Given the description of an element on the screen output the (x, y) to click on. 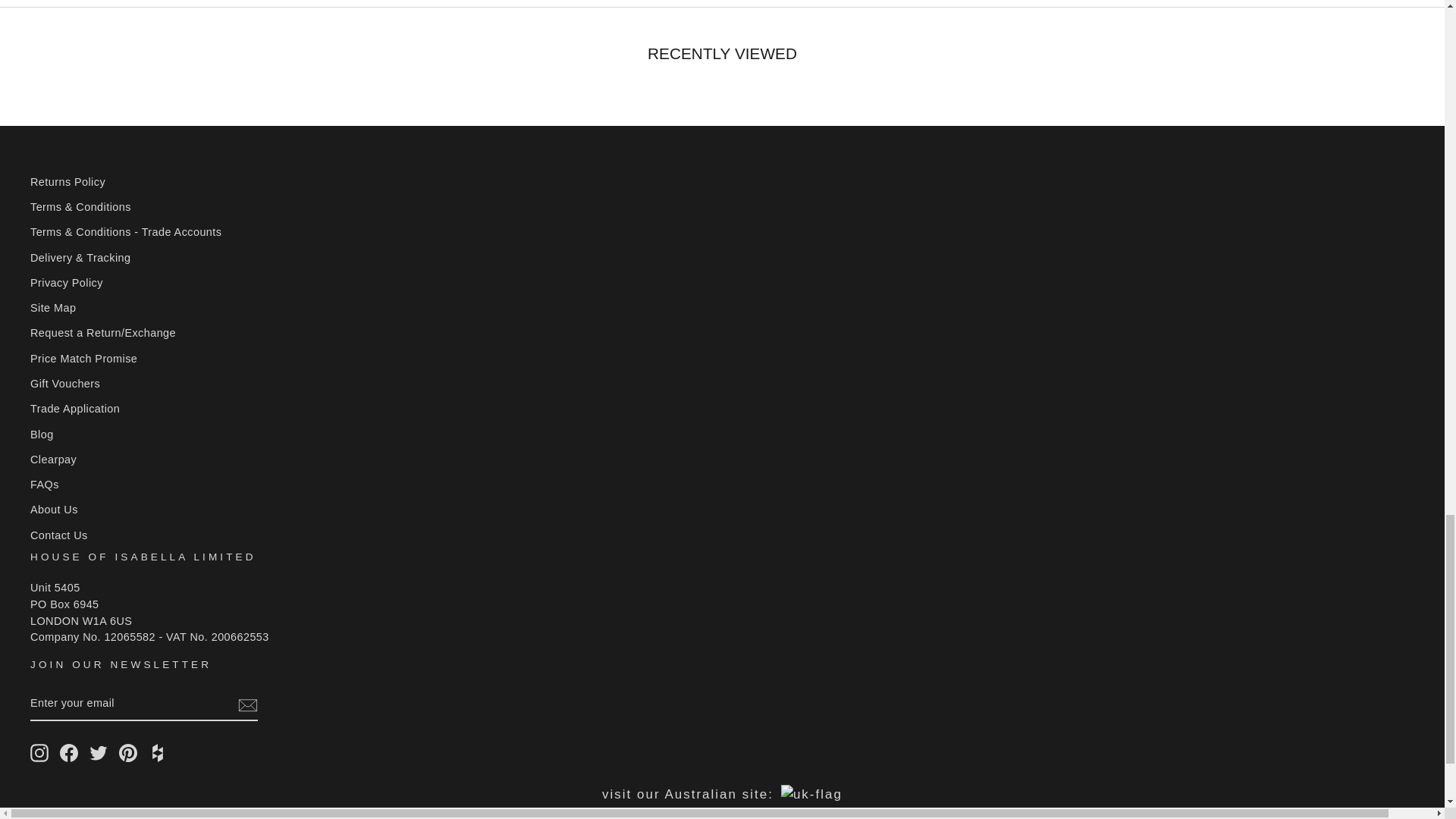
House of Isabella UK on Instagram (39, 752)
House of Isabella UK on Twitter (97, 752)
House of Isabella UK on Facebook (68, 752)
House of Isabella UK on Pinterest (127, 752)
